Given the description of an element on the screen output the (x, y) to click on. 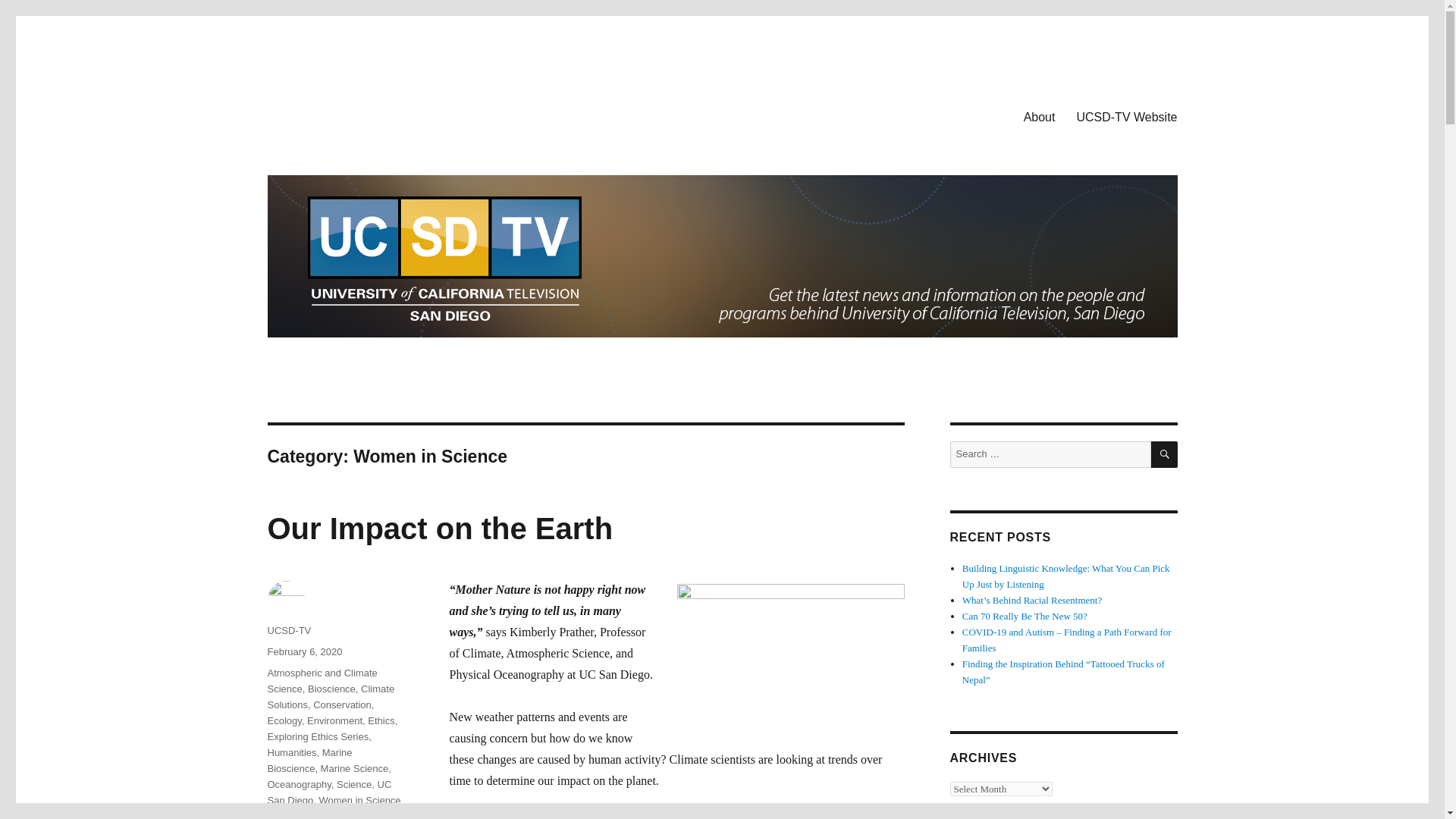
climate change (331, 817)
Bioscience (331, 688)
Ethics (381, 720)
Search for: (1049, 454)
Environment (334, 720)
Conservation (342, 704)
UCSD-TV Website (1126, 116)
Oceanography (298, 784)
Climate Solutions (330, 696)
Science (353, 784)
Atmospheric and Climate Science (321, 680)
UCSD-TV (288, 630)
Humanities (290, 752)
UC San Diego (328, 791)
About (1039, 116)
